Given the description of an element on the screen output the (x, y) to click on. 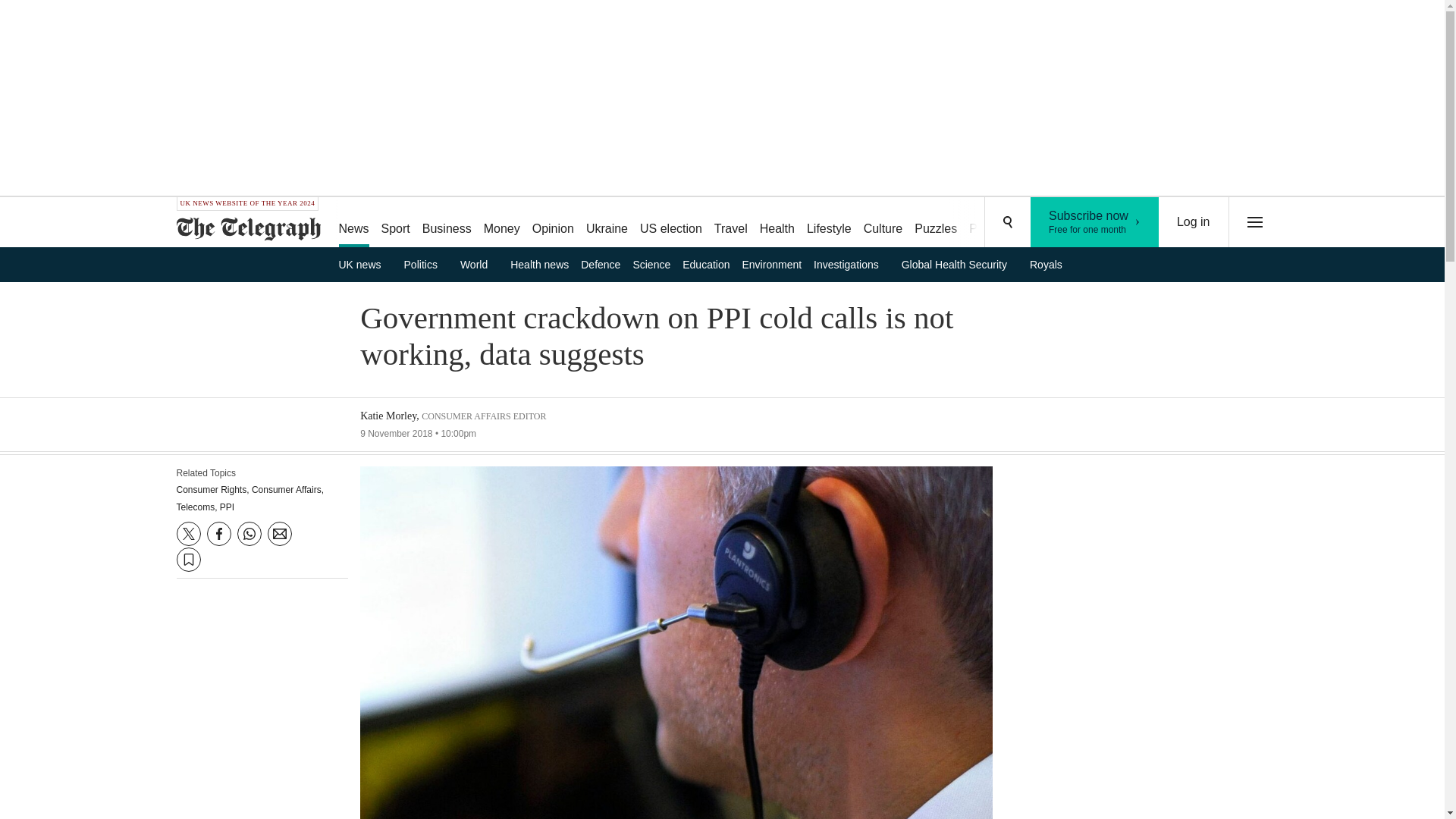
Podcasts (993, 223)
Puzzles (935, 223)
World (478, 264)
Travel (730, 223)
Health (777, 223)
US election (670, 223)
Log in (1193, 222)
Ukraine (606, 223)
Business (446, 223)
Lifestyle (828, 223)
